Given the description of an element on the screen output the (x, y) to click on. 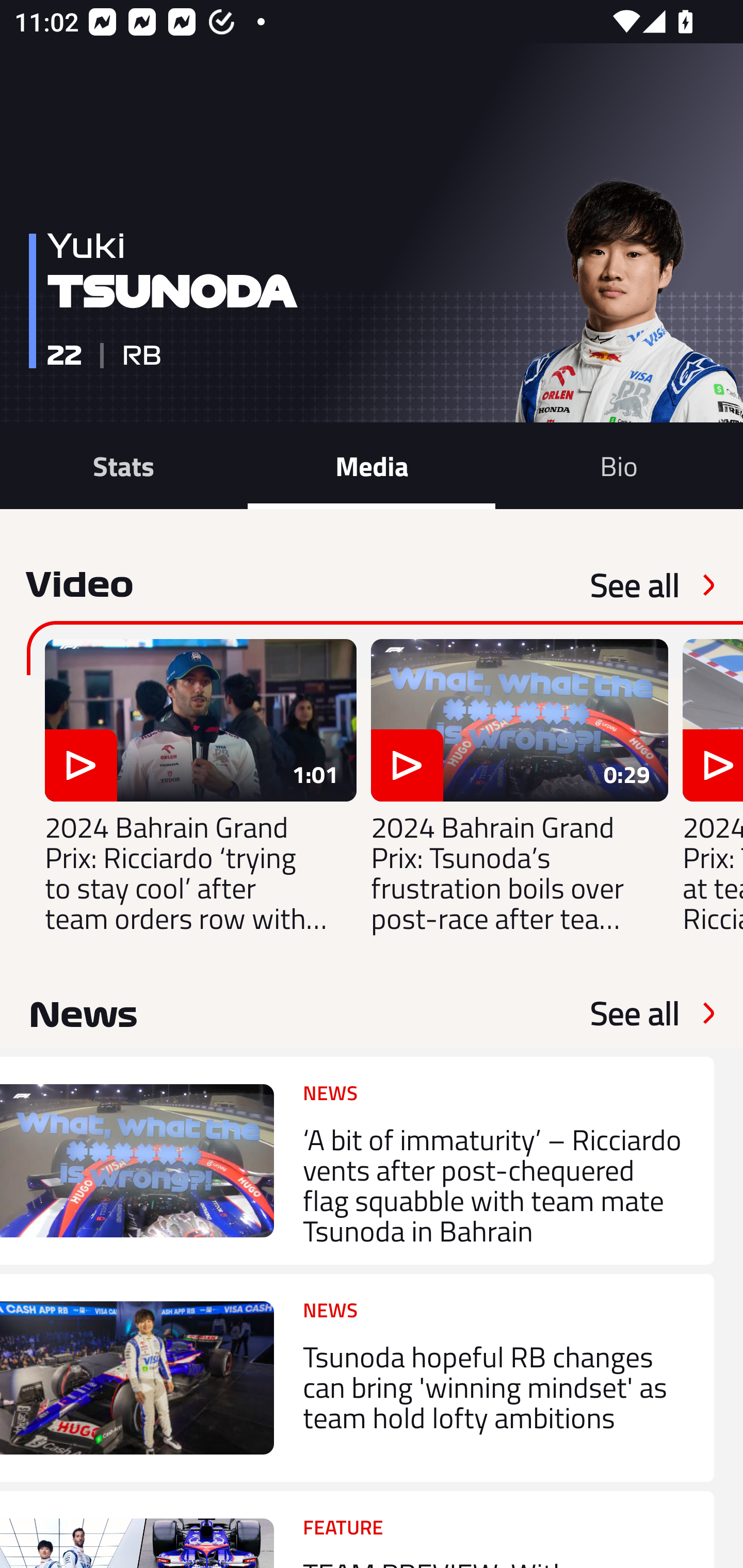
Stats (123, 465)
Bio (619, 465)
See all (634, 584)
See all (634, 1012)
